Given the description of an element on the screen output the (x, y) to click on. 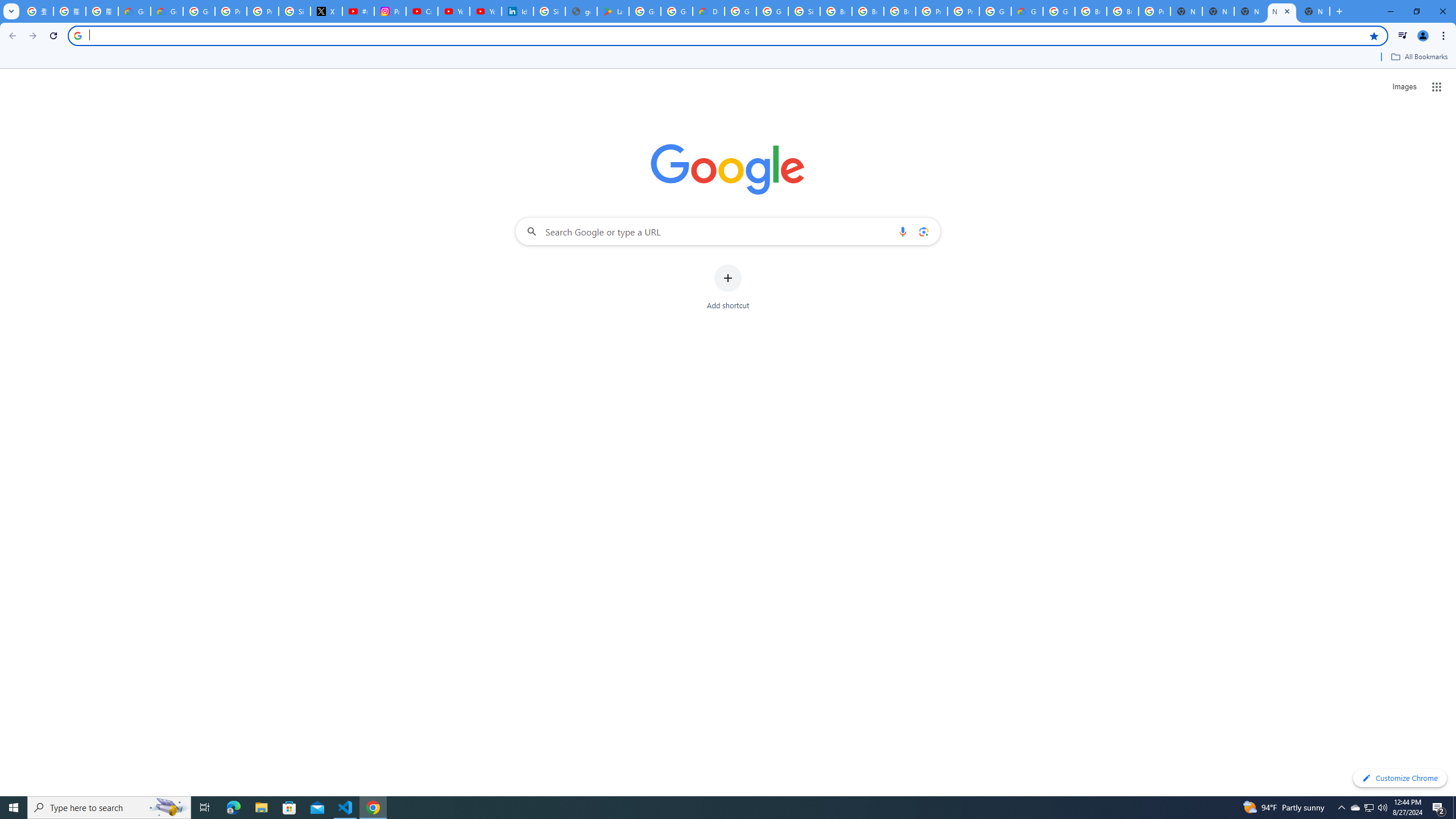
Address and search bar (725, 35)
Google Cloud Privacy Notice (134, 11)
New Tab (1313, 11)
Sign in - Google Accounts (294, 11)
Search by voice (902, 230)
Identity verification via Persona | LinkedIn Help (517, 11)
Control your music, videos, and more (1402, 35)
YouTube Culture & Trends - YouTube Top 10, 2021 (485, 11)
google_privacy_policy_en.pdf (581, 11)
Browse Chrome as a guest - Computer - Google Chrome Help (868, 11)
